Given the description of an element on the screen output the (x, y) to click on. 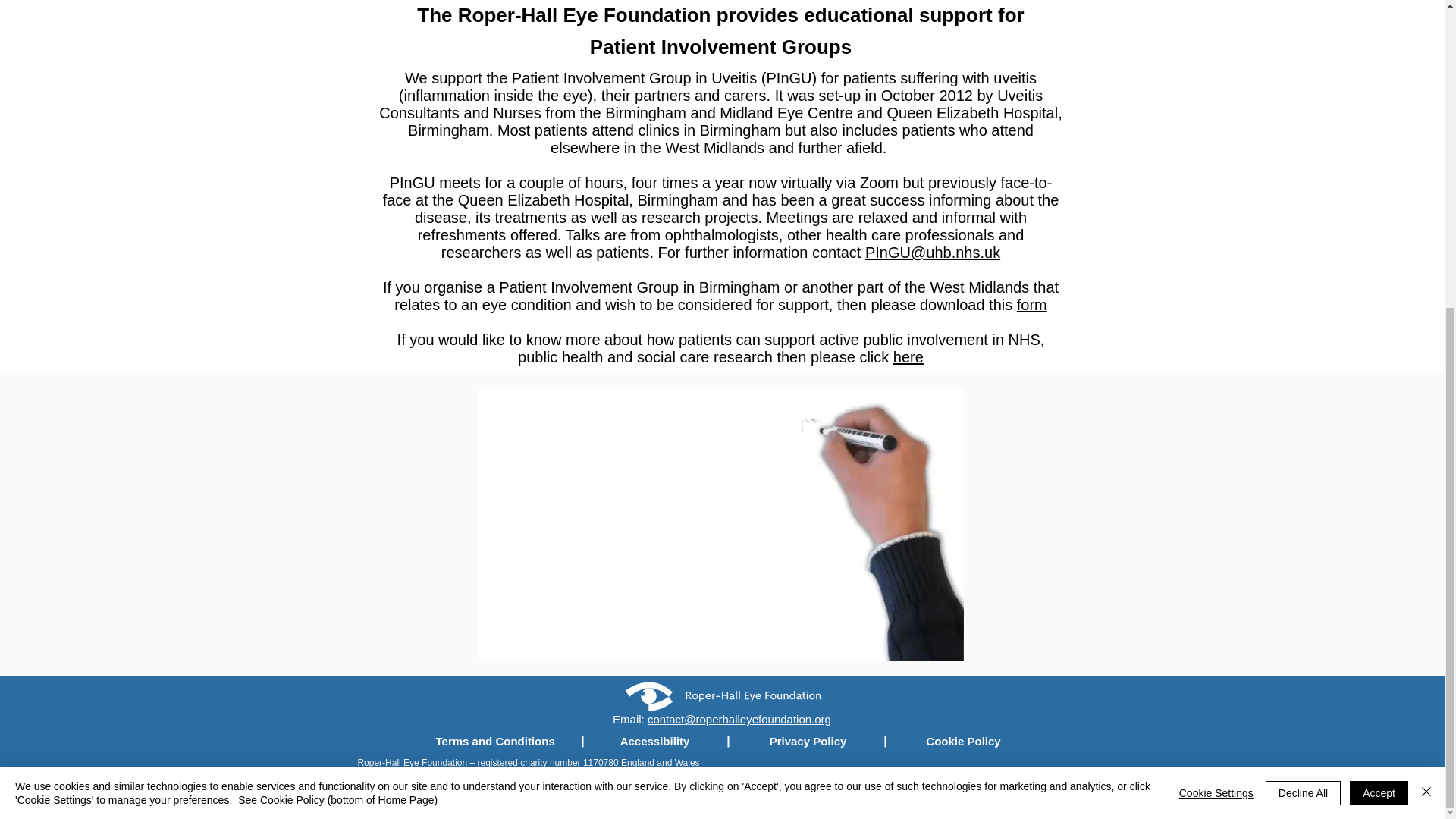
Cookie Policy (963, 740)
Privacy Policy (807, 740)
Accessibility (653, 740)
Decline All (1302, 306)
here (908, 356)
form (1031, 304)
Accept (1378, 306)
Terms and Conditions (494, 740)
